Given the description of an element on the screen output the (x, y) to click on. 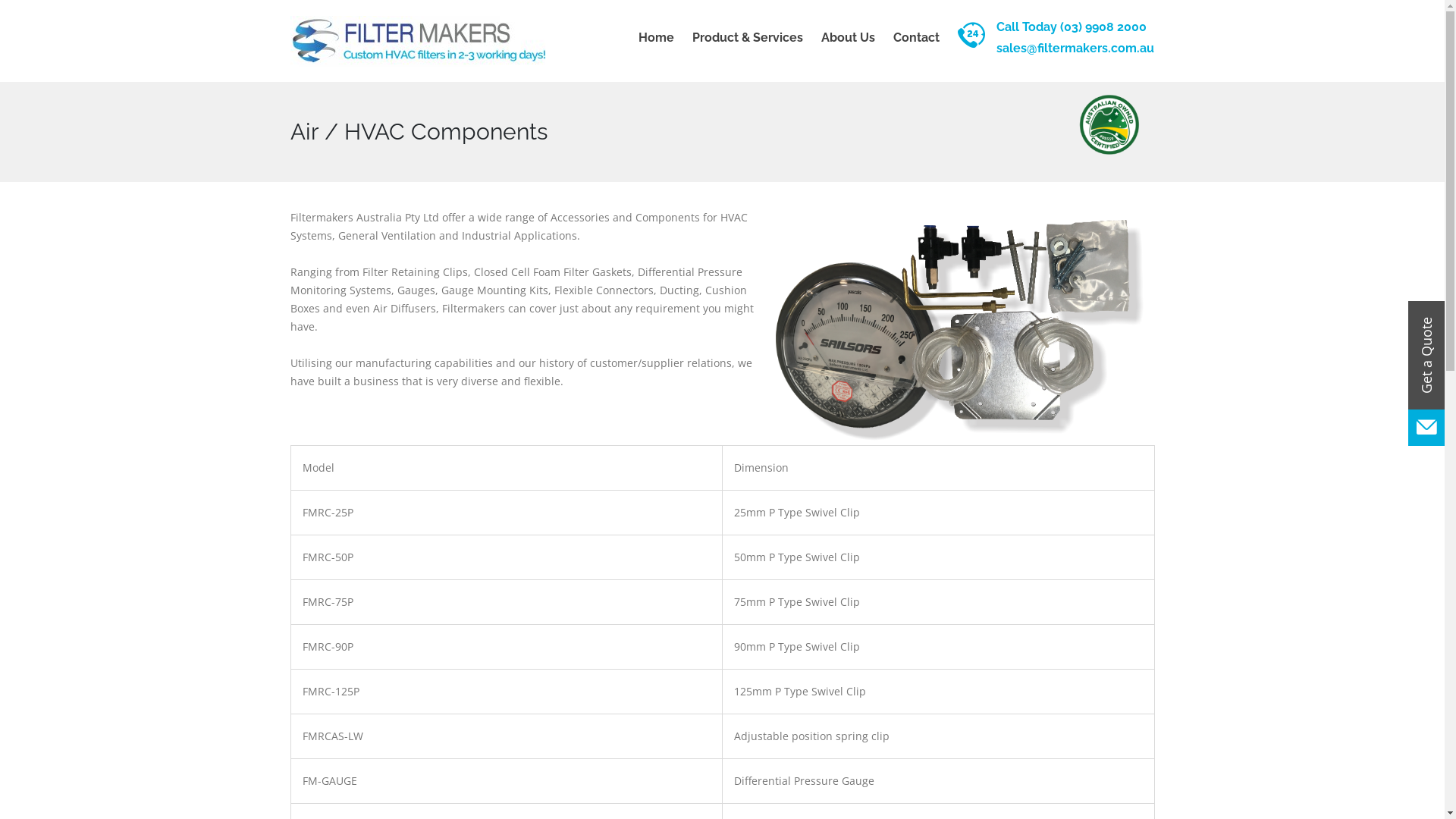
sales@filtermakers.com.au Element type: text (1070, 48)
Product & Services Element type: text (747, 37)
Contact Element type: text (916, 37)
Call Today (03) 9908 2000 Element type: text (1070, 26)
Home Element type: text (656, 37)
About Us Element type: text (848, 37)
